Given the description of an element on the screen output the (x, y) to click on. 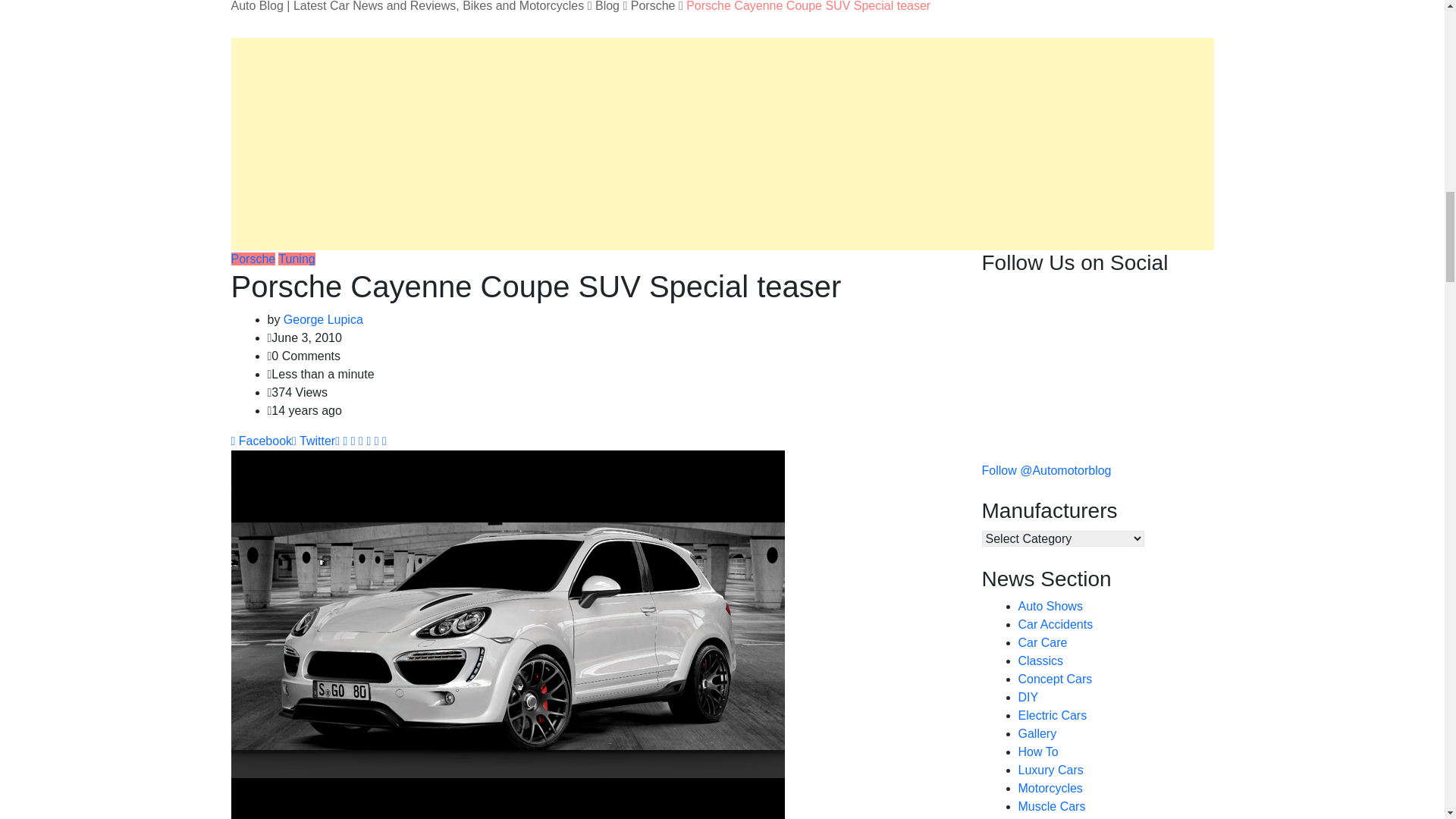
Posts by George Lupica (322, 318)
Go to the Porsche Category archives. (652, 6)
Go to Blog. (607, 6)
